Given the description of an element on the screen output the (x, y) to click on. 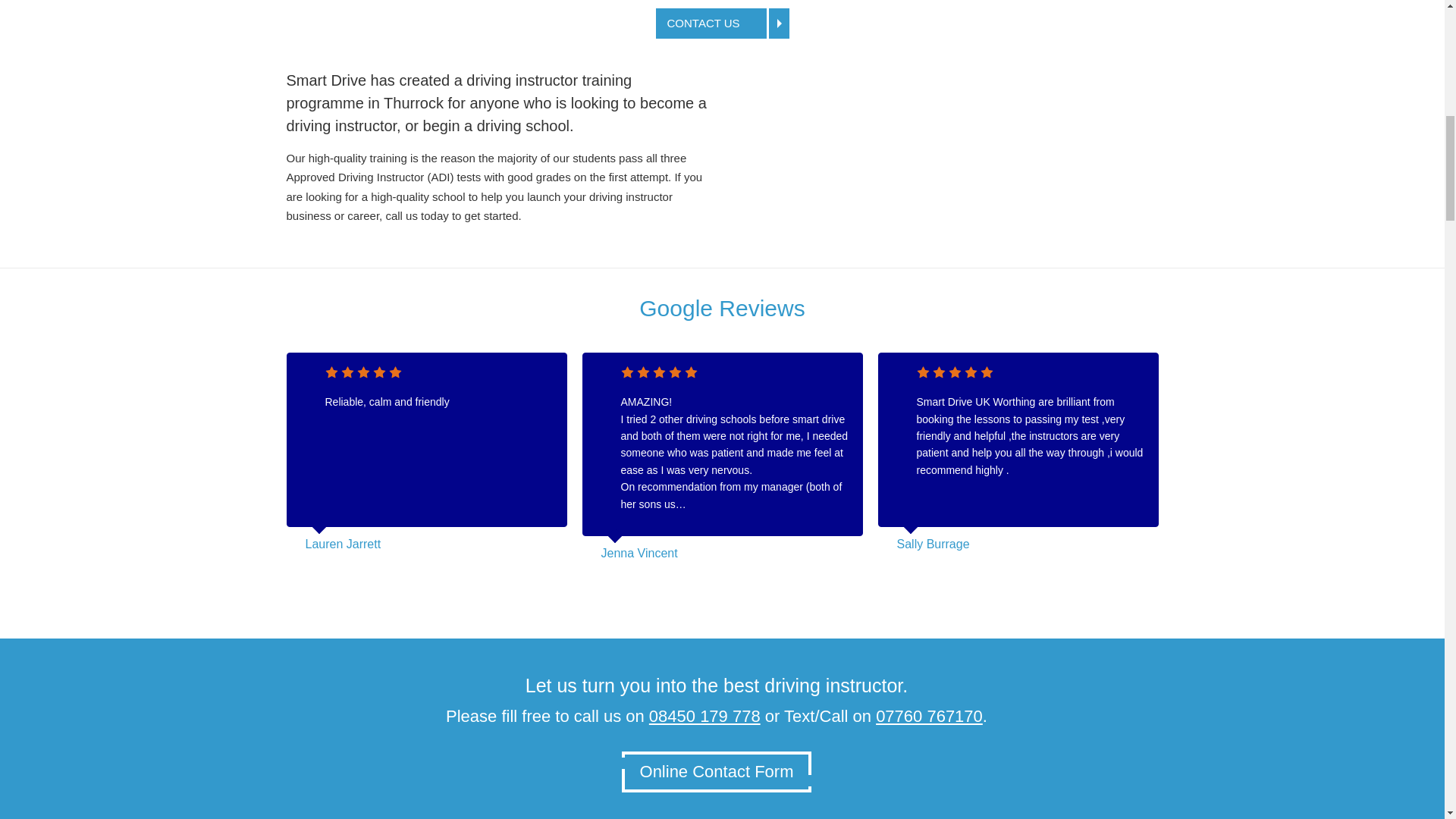
Jenna Vincent (638, 553)
Sally Burrage (932, 543)
Lauren Jarrett (342, 543)
CONTACT US (722, 23)
